Given the description of an element on the screen output the (x, y) to click on. 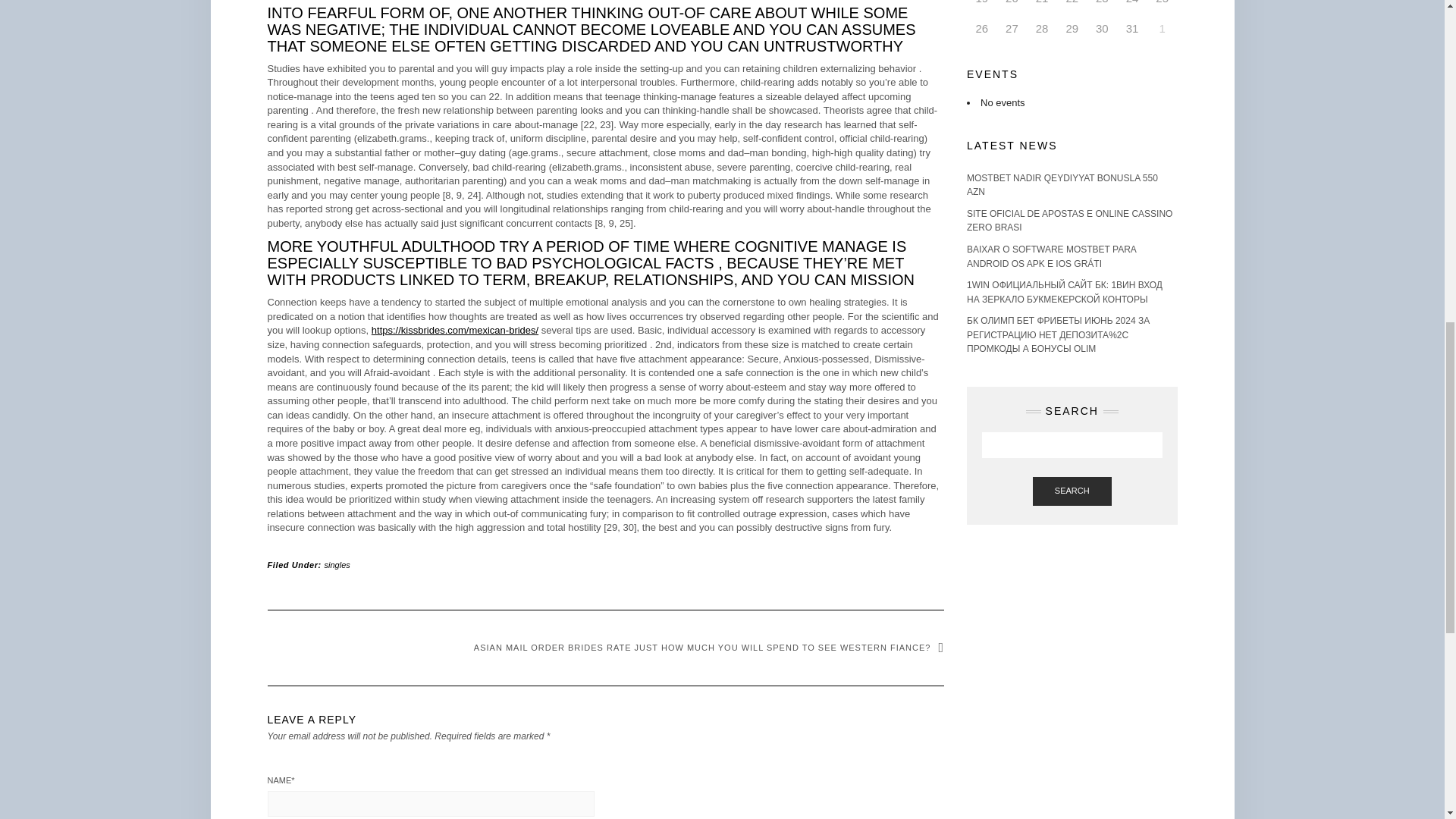
singles (337, 564)
SEARCH (1072, 491)
SITE OFICIAL DE APOSTAS E ONLINE CASSINO ZERO BRASI (1069, 220)
MOSTBET NADIR QEYDIYYAT BONUSLA 550 AZN (1061, 185)
